Given the description of an element on the screen output the (x, y) to click on. 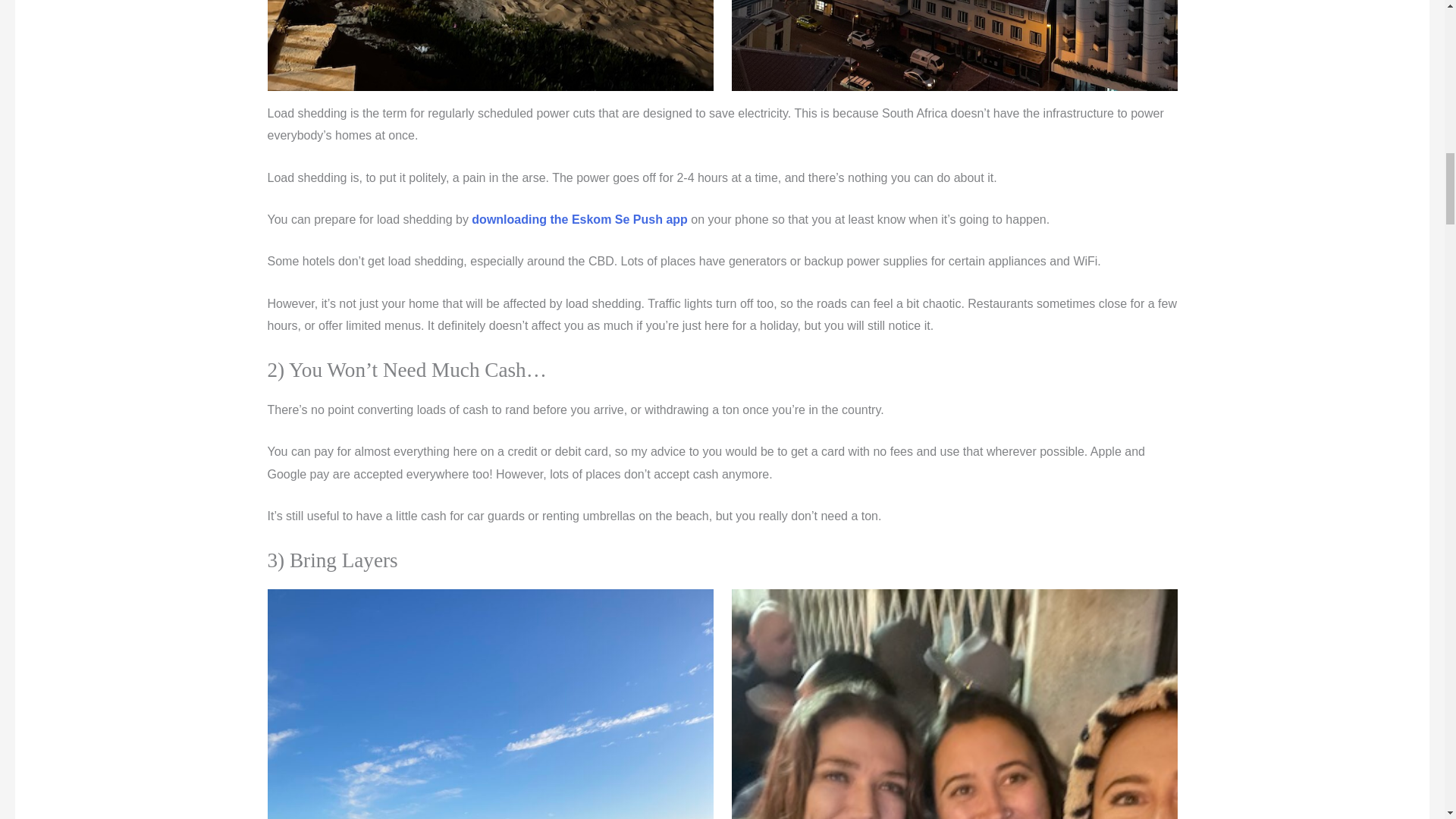
downloading the Eskom Se Push app (577, 219)
